Given the description of an element on the screen output the (x, y) to click on. 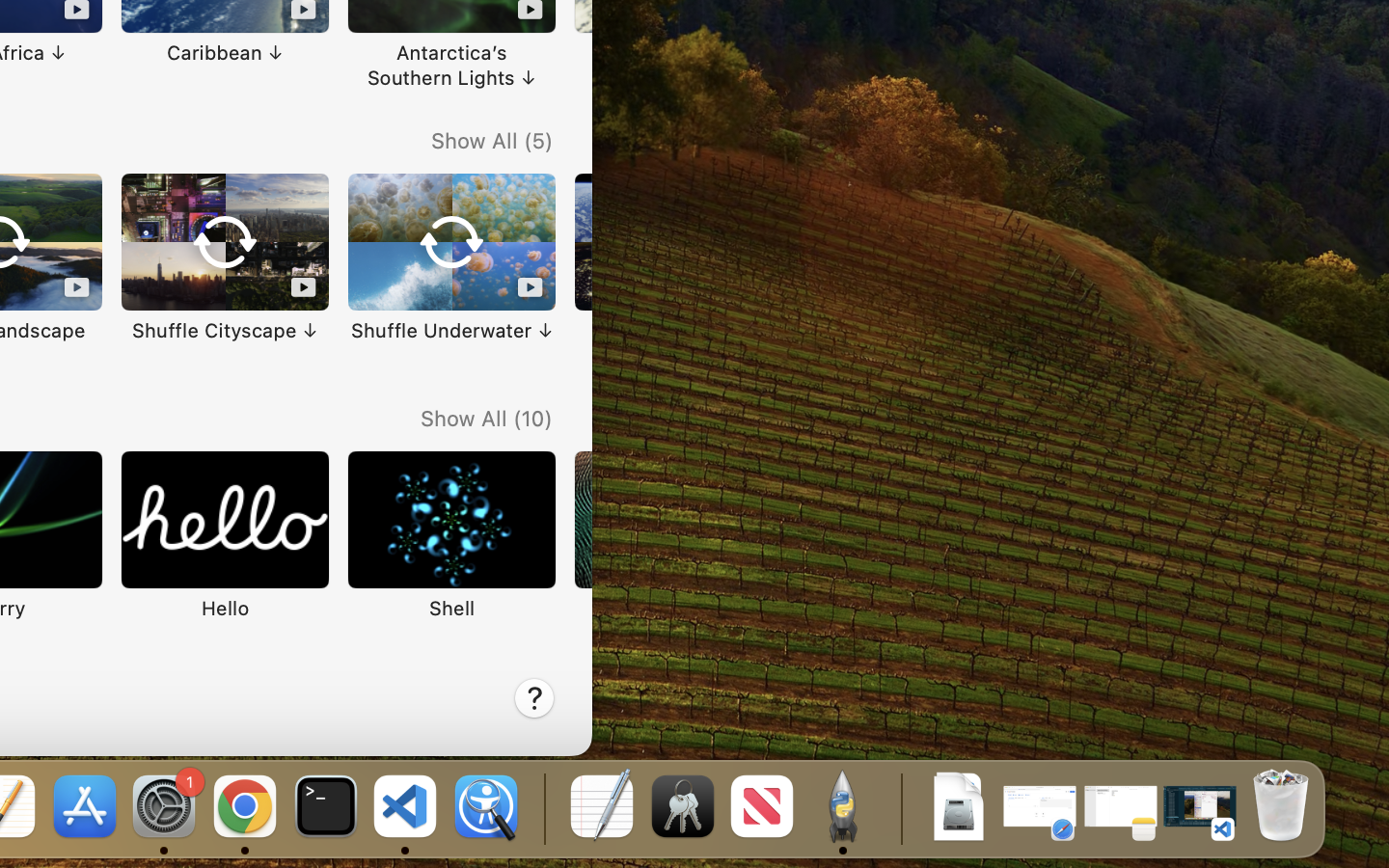
0.4285714328289032 Element type: AXDockItem (541, 807)
